Given the description of an element on the screen output the (x, y) to click on. 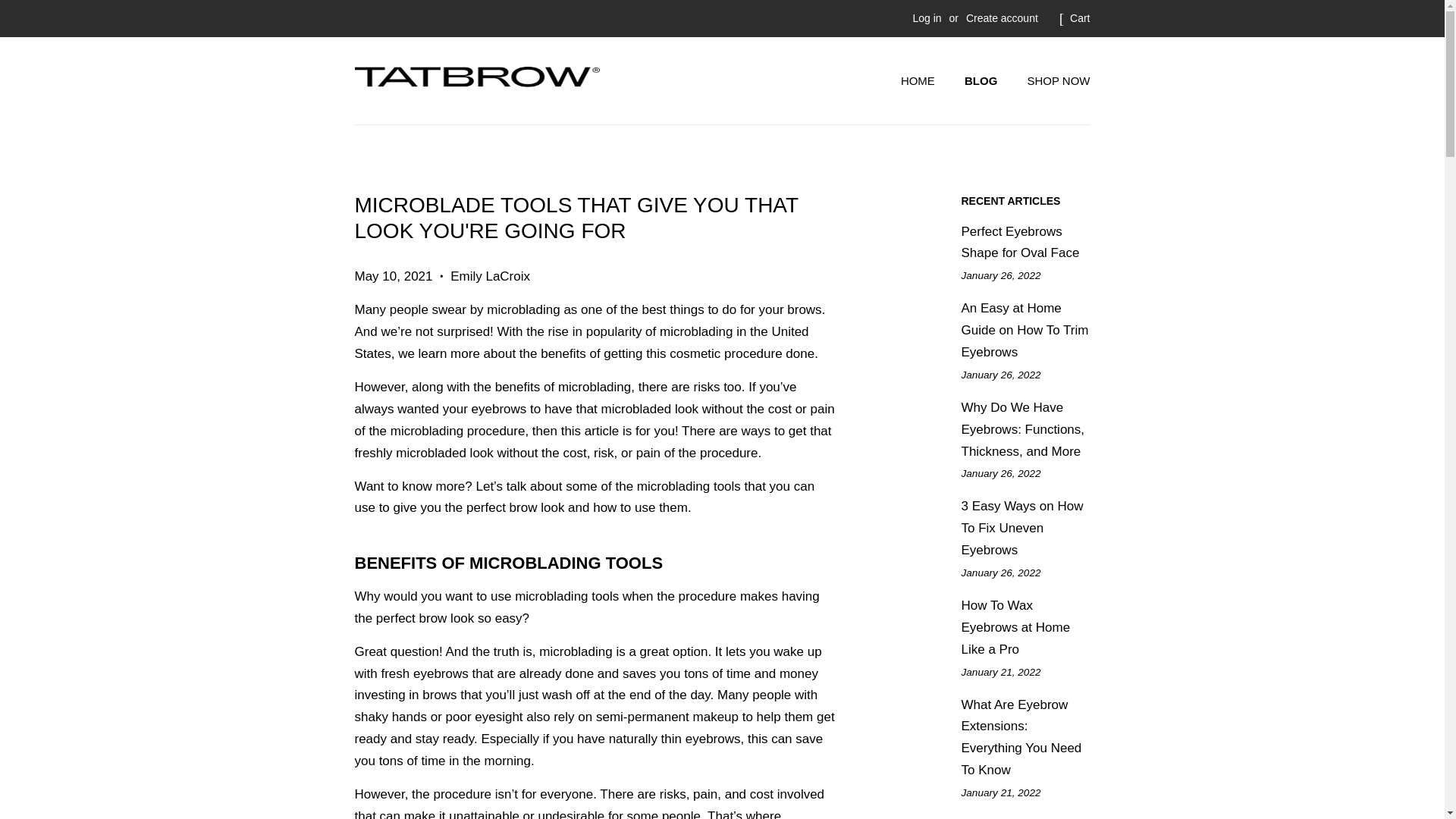
SHOP NOW (1053, 81)
Create account (1002, 18)
HOME (925, 81)
BLOG (982, 81)
3 Easy Ways on How To Fix Uneven Eyebrows (1021, 527)
Why Do We Have Eyebrows: Functions, Thickness, and More (1022, 429)
An Easy at Home Guide on How To Trim Eyebrows (1024, 330)
Log in (927, 18)
Perfect Eyebrows Shape for Oval Face (1020, 242)
Cart (1079, 18)
